Given the description of an element on the screen output the (x, y) to click on. 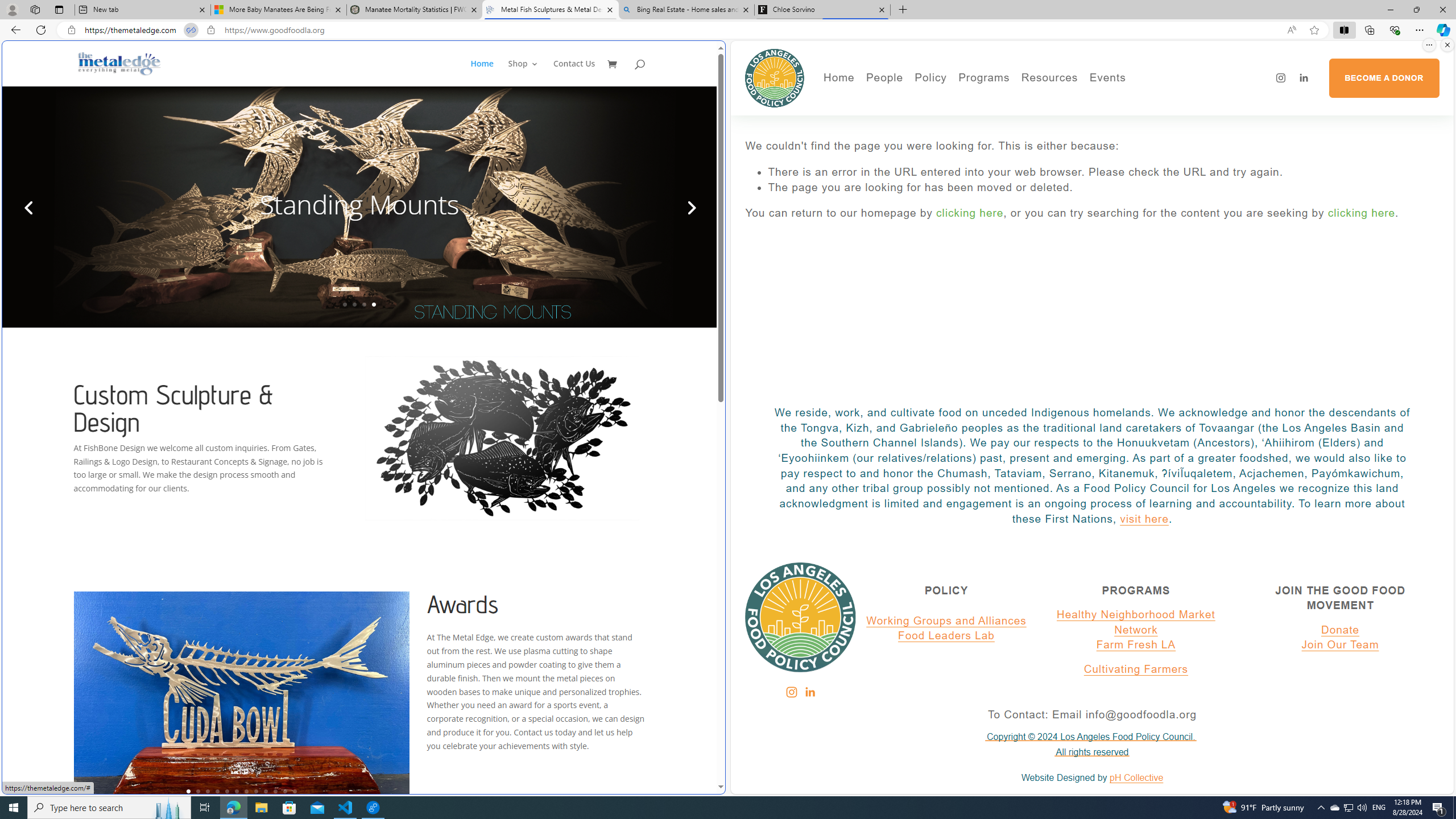
Food Leaders Lab (946, 636)
Shop 3 (523, 72)
Home (488, 72)
Cultivating Farmers  (1135, 669)
4 (217, 790)
Instagram (790, 692)
8 (255, 790)
Join Our Team (1339, 645)
2 (198, 790)
SoCal Impact Food Fund (1093, 116)
Reports (922, 165)
pH Collective (1136, 777)
